Given the description of an element on the screen output the (x, y) to click on. 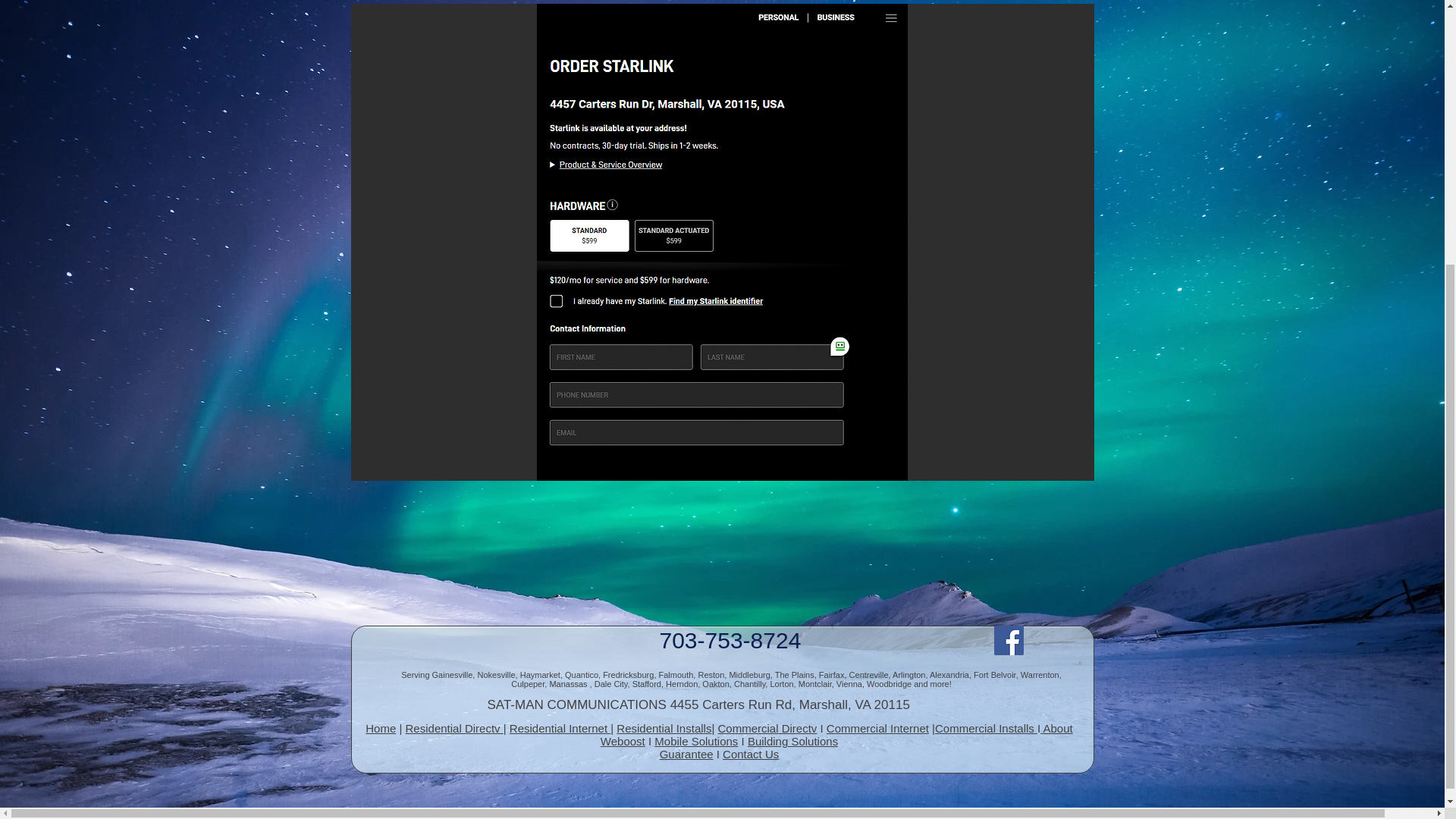
Contact Us (750, 753)
Home (380, 727)
Residential Installs (663, 727)
Guarantee (686, 753)
 About Weboost (836, 734)
Commercial Internet (877, 727)
Mobile Solutions (695, 740)
Residential Internet  (559, 727)
703-753-8724 (730, 640)
Building Solutions (793, 740)
Commercial Installs  (985, 727)
Commercial Directv (766, 727)
Residential Directv  (454, 727)
